Given the description of an element on the screen output the (x, y) to click on. 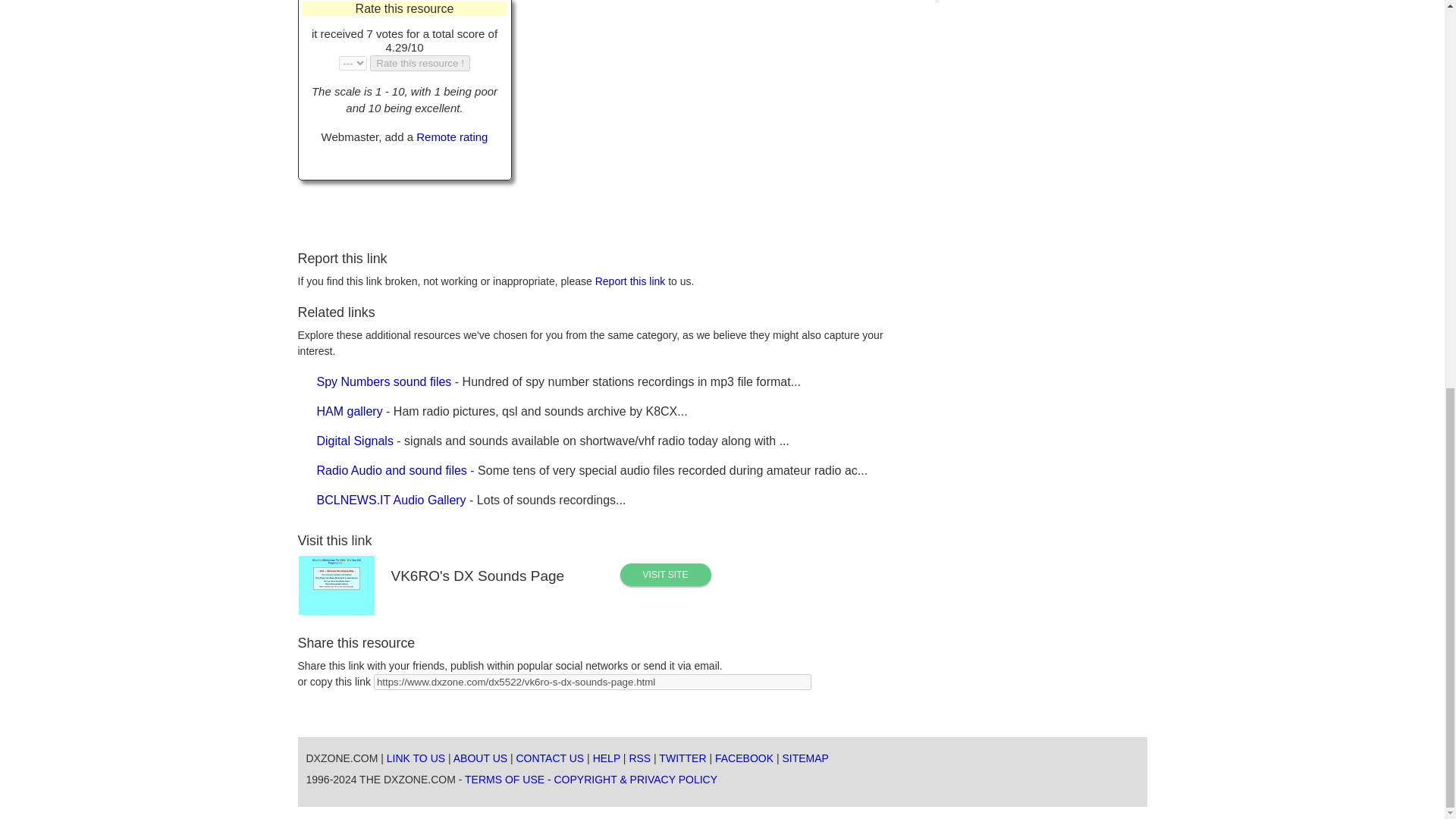
Rate this resource ! (419, 63)
VK6RO's DX Sounds Page (665, 574)
BCLNEWS.IT Audio Gallery (391, 499)
HAM gallery (349, 410)
Report this link (630, 281)
VISIT SITE (665, 574)
Rate this resource ! (419, 63)
Advertisement (680, 104)
Remote rating (451, 136)
Digital Signals (355, 440)
Radio Audio and sound files (392, 470)
Spy Numbers sound files (384, 381)
